Given the description of an element on the screen output the (x, y) to click on. 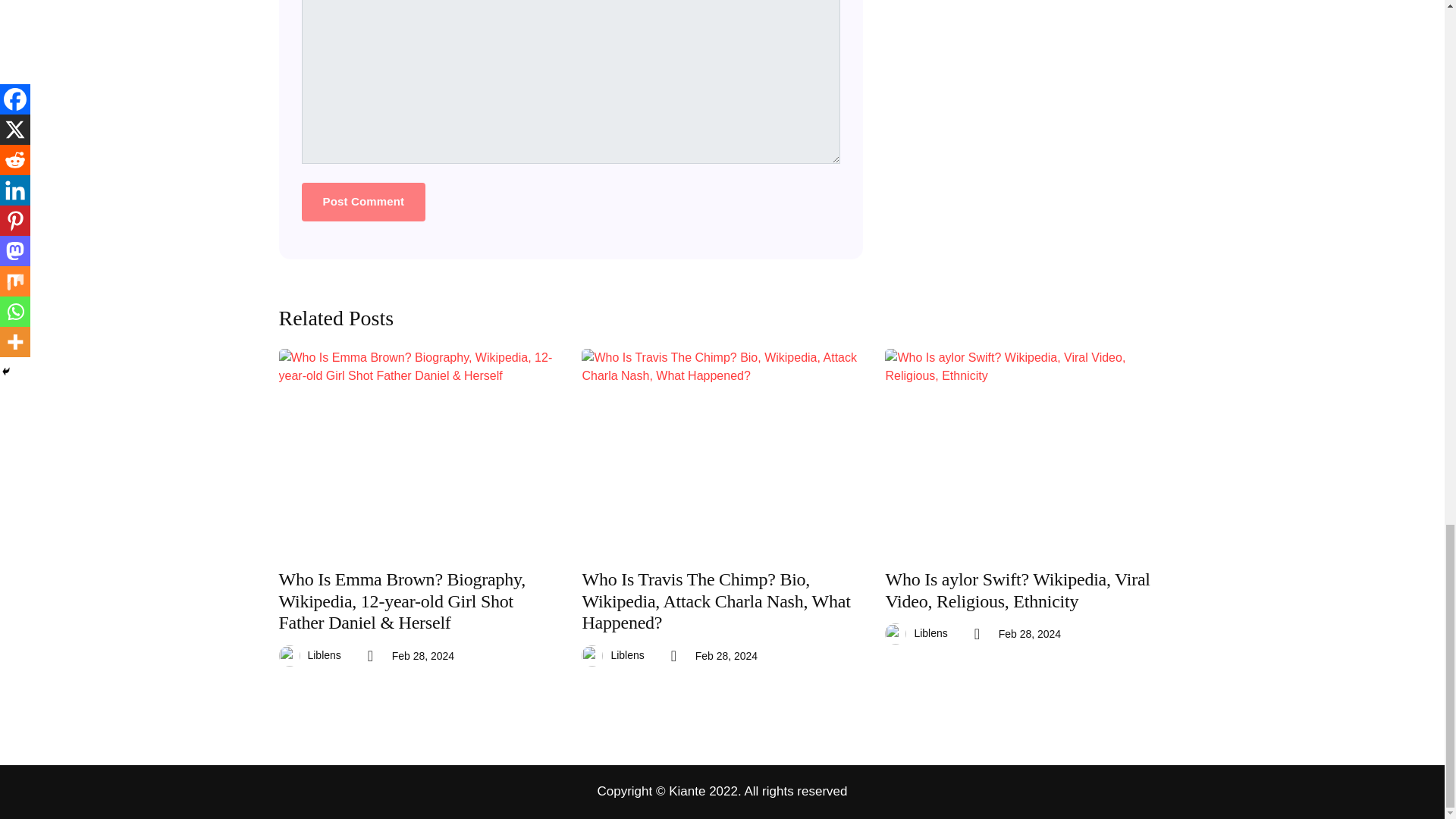
Post Comment (363, 201)
Liblens (626, 654)
Liblens (323, 654)
Post Comment (363, 201)
Liblens (930, 632)
